Given the description of an element on the screen output the (x, y) to click on. 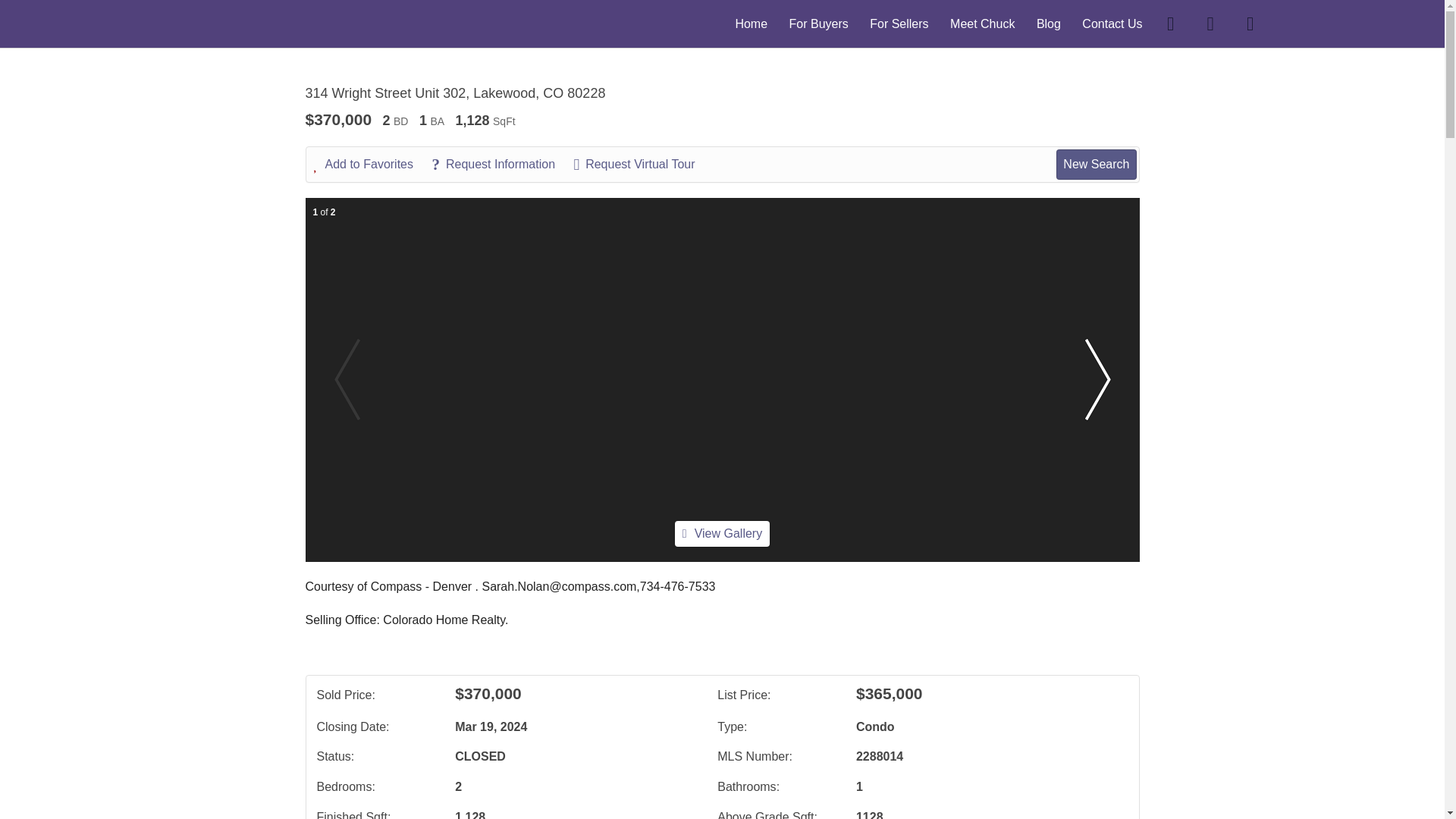
Request Virtual Tour (641, 164)
Home (751, 23)
Add to Favorites (371, 164)
Contact Us (1111, 23)
New Search (1096, 164)
Meet Chuck (982, 23)
For Sellers (898, 23)
Request Information (500, 164)
View Gallery (722, 533)
Blog (1048, 23)
View Gallery (722, 533)
For Buyers (818, 23)
